Given the description of an element on the screen output the (x, y) to click on. 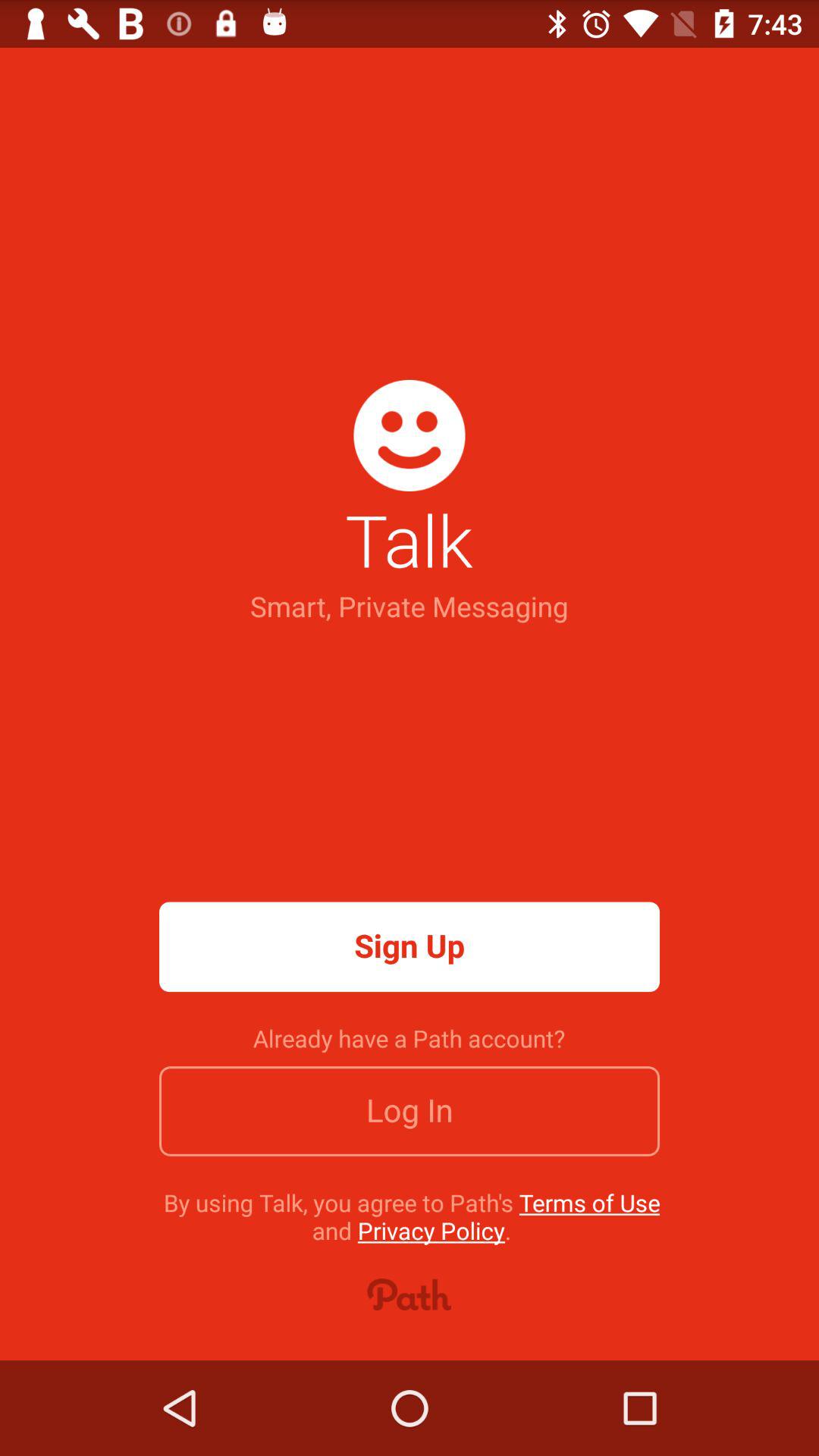
tap app above the already have a icon (409, 946)
